Given the description of an element on the screen output the (x, y) to click on. 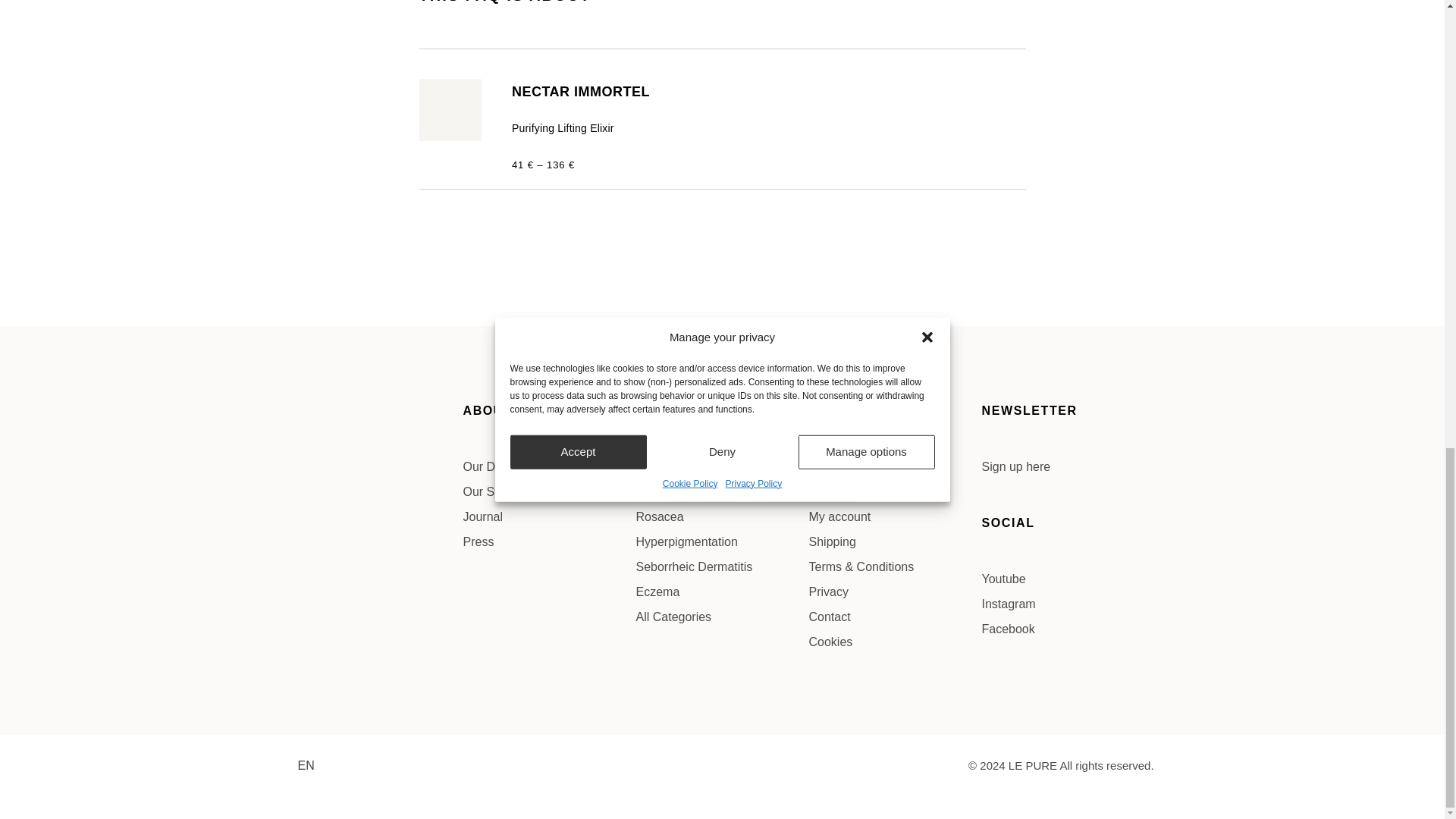
Our Story (548, 492)
Journal (548, 516)
Our Difference (548, 466)
Eczema (721, 592)
Hyperpigmentation (721, 542)
Acne (721, 466)
Rosacea (721, 516)
Press (548, 542)
NECTAR IMMORTEL (580, 91)
Couperose (721, 492)
Seborrheic Dermatitis (721, 566)
